Given the description of an element on the screen output the (x, y) to click on. 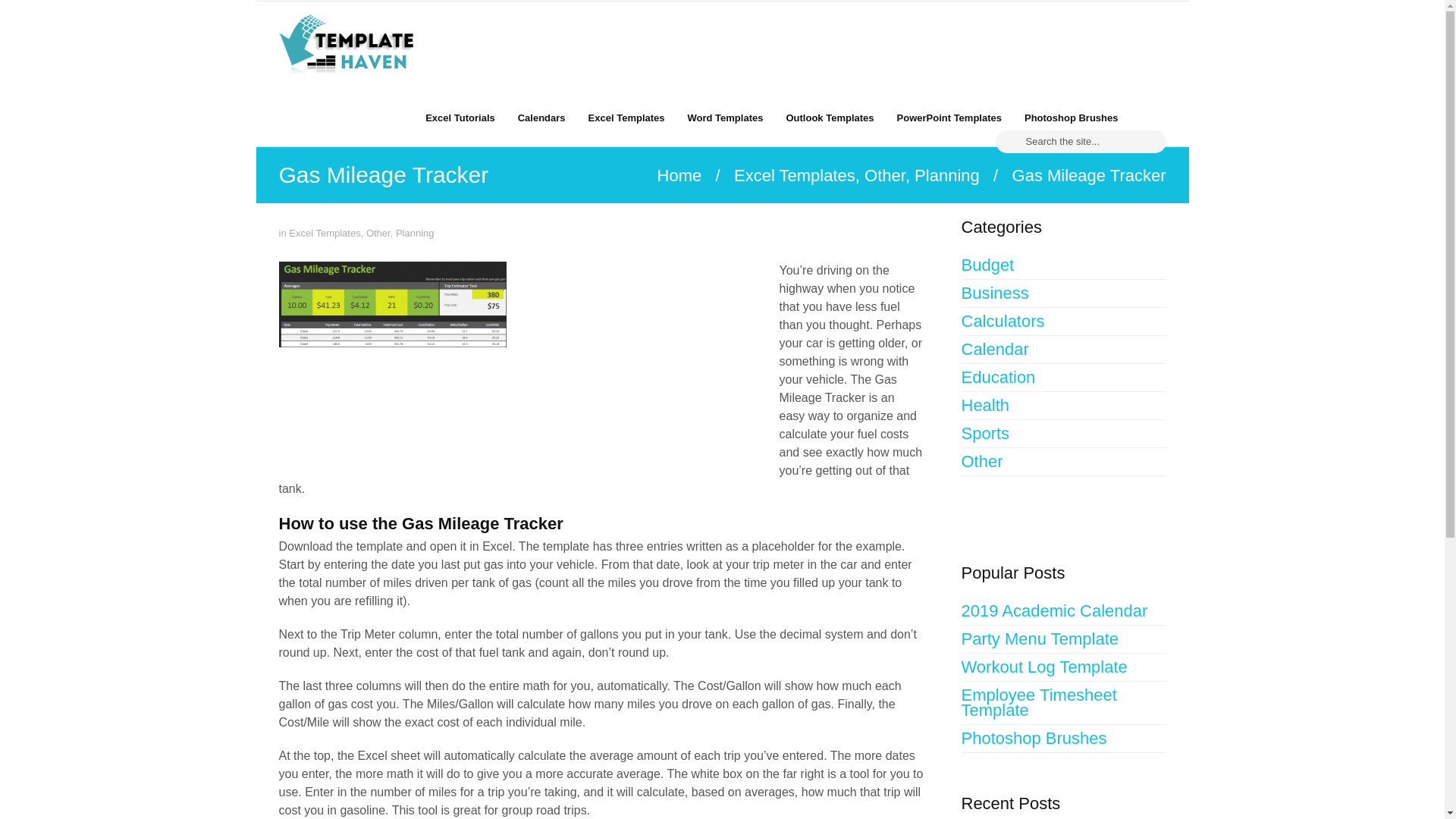
PowerPoint Templates (949, 116)
Excel Templates (626, 116)
Health (1063, 406)
2019 Academic Calendar (1063, 611)
Other (378, 233)
Word Templates (725, 116)
Education (1063, 377)
Other (884, 175)
Planning (414, 233)
Photoshop Brushes (1071, 116)
